Given the description of an element on the screen output the (x, y) to click on. 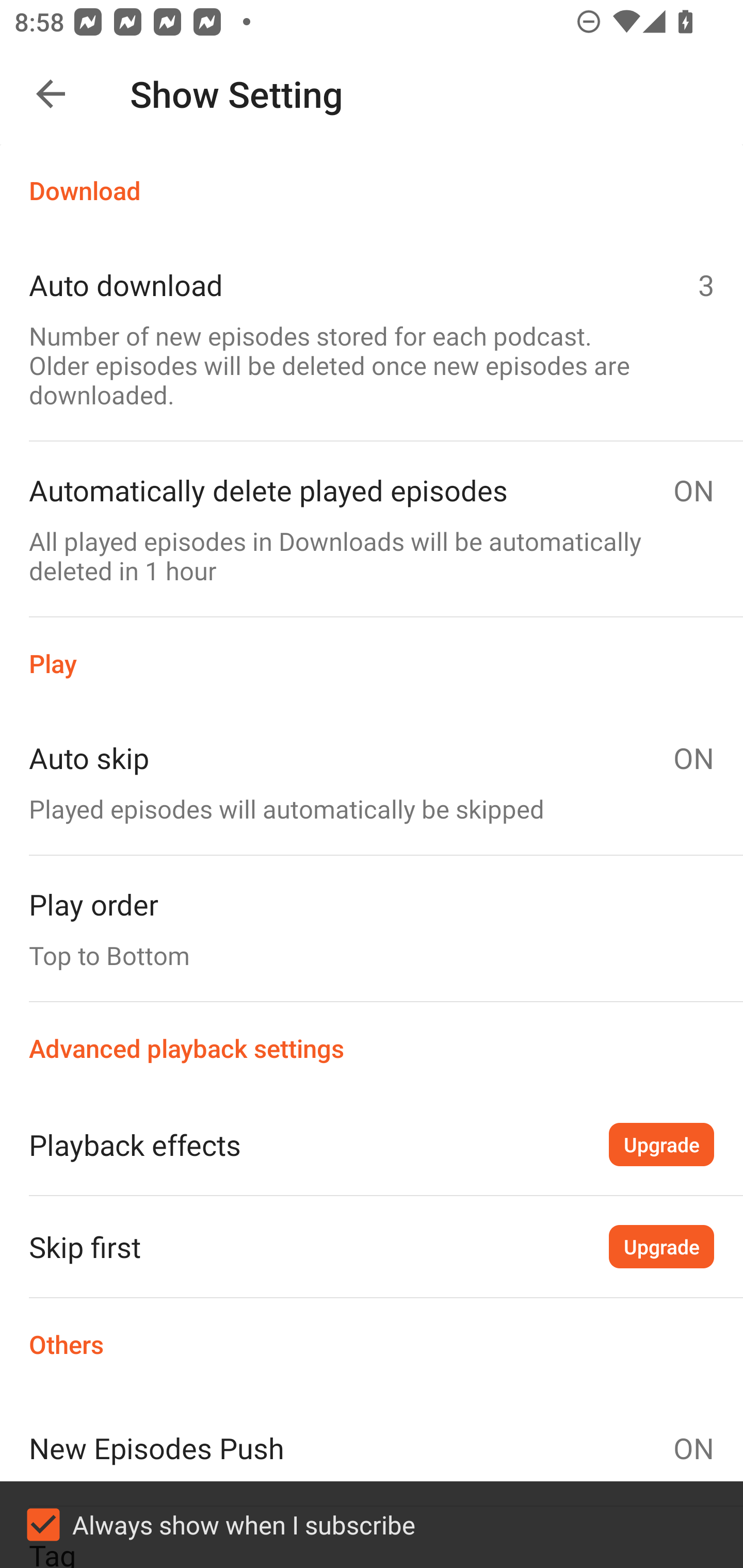
Navigate up (50, 93)
Play order Top to Bottom (371, 928)
Playback effects Upgrade (371, 1144)
Skip first Upgrade (371, 1246)
New Episodes Push ON (371, 1447)
Always show when I subscribe (371, 1524)
